Given the description of an element on the screen output the (x, y) to click on. 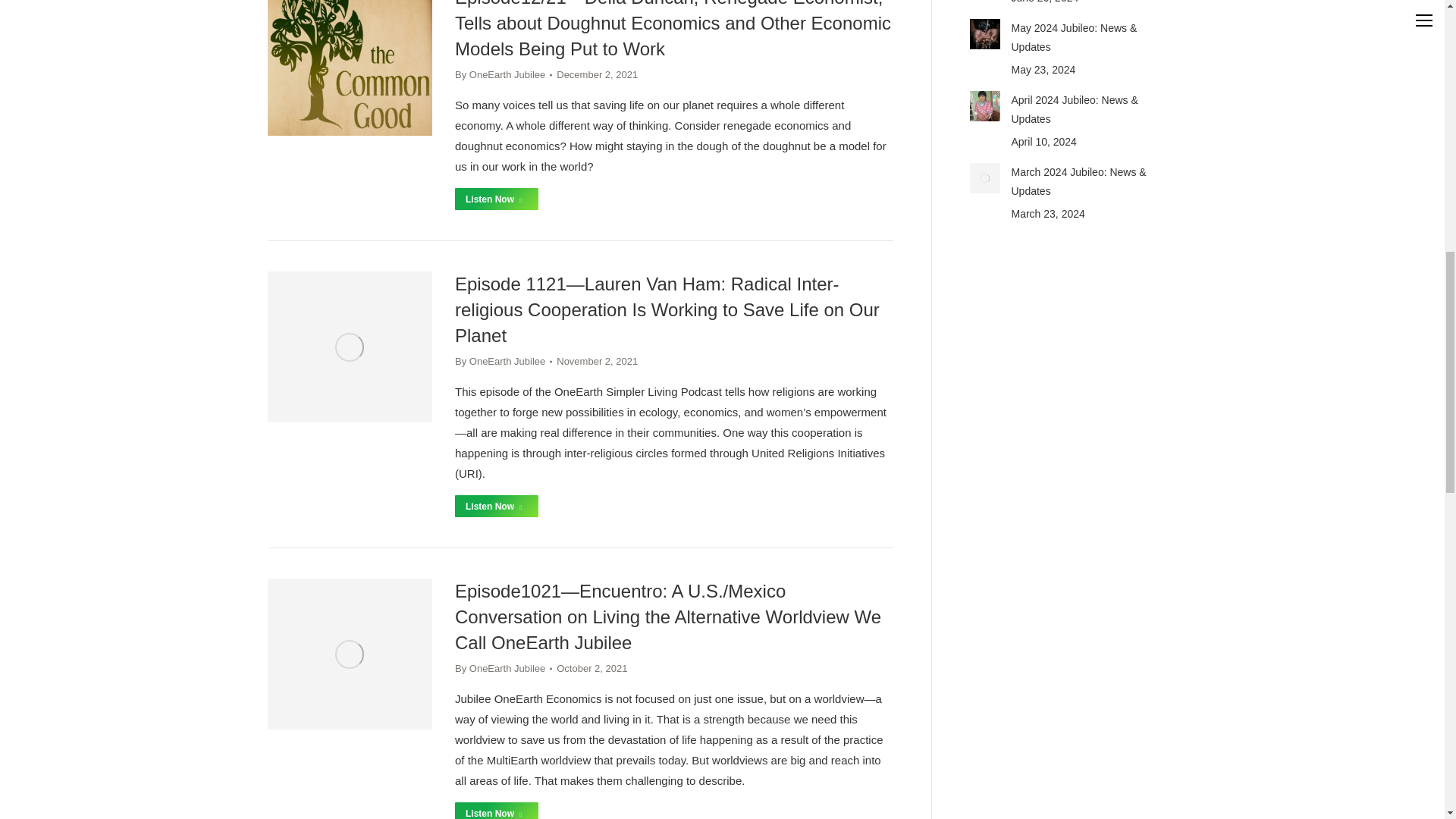
4:05 PM (596, 74)
the-Common-Good-podcast-art (349, 67)
View all posts by OneEarth Jubilee (502, 74)
